Given the description of an element on the screen output the (x, y) to click on. 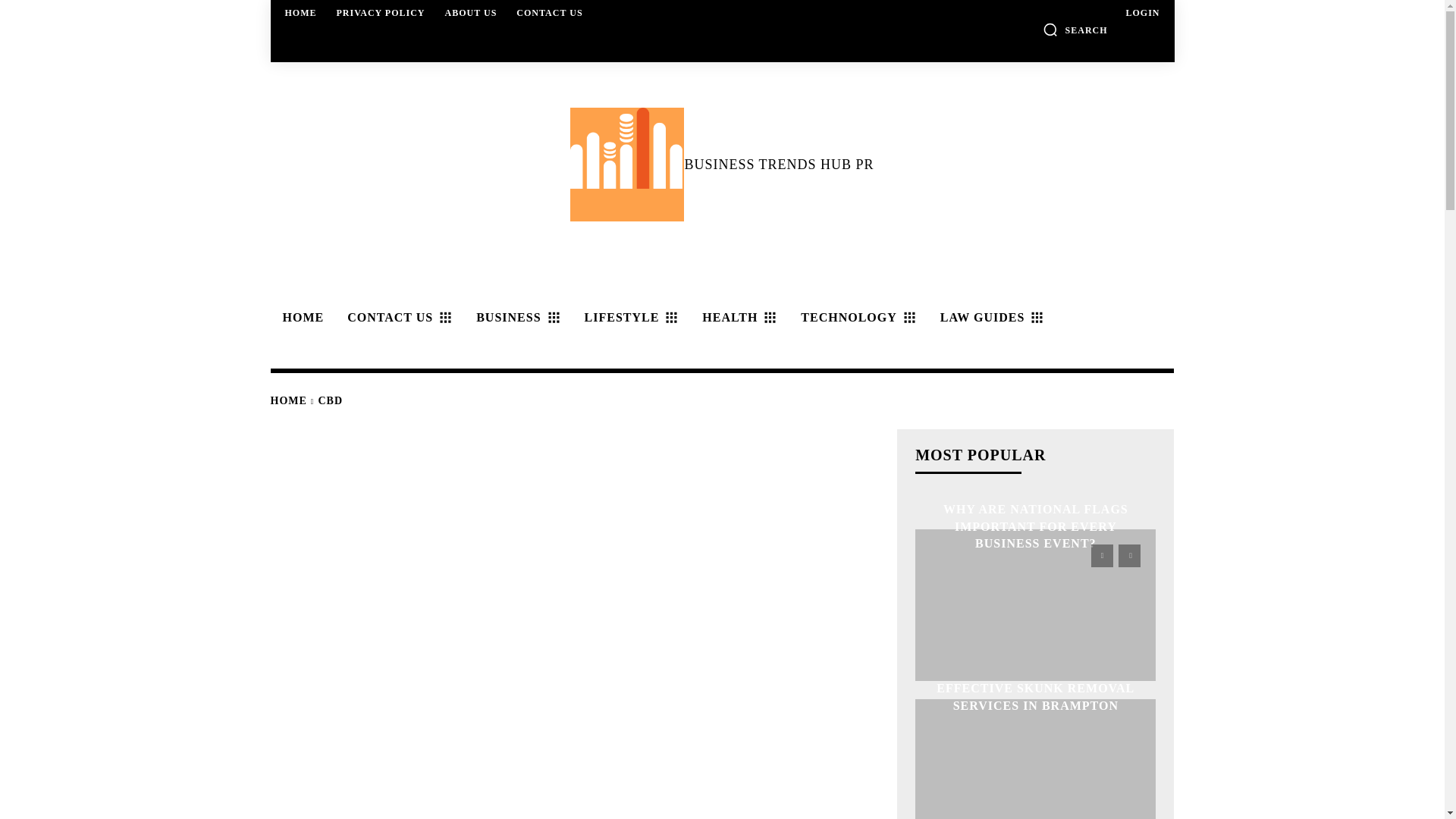
HOME (300, 317)
PRIVACY POLICY (380, 12)
CONTACT US (548, 12)
View all posts in CBD (330, 400)
ABOUT US (471, 12)
HOME (301, 12)
SEARCH (1075, 29)
LOGIN (1141, 12)
Business Trends Hub (627, 164)
BUSINESS TRENDS HUB PR (721, 164)
